Given the description of an element on the screen output the (x, y) to click on. 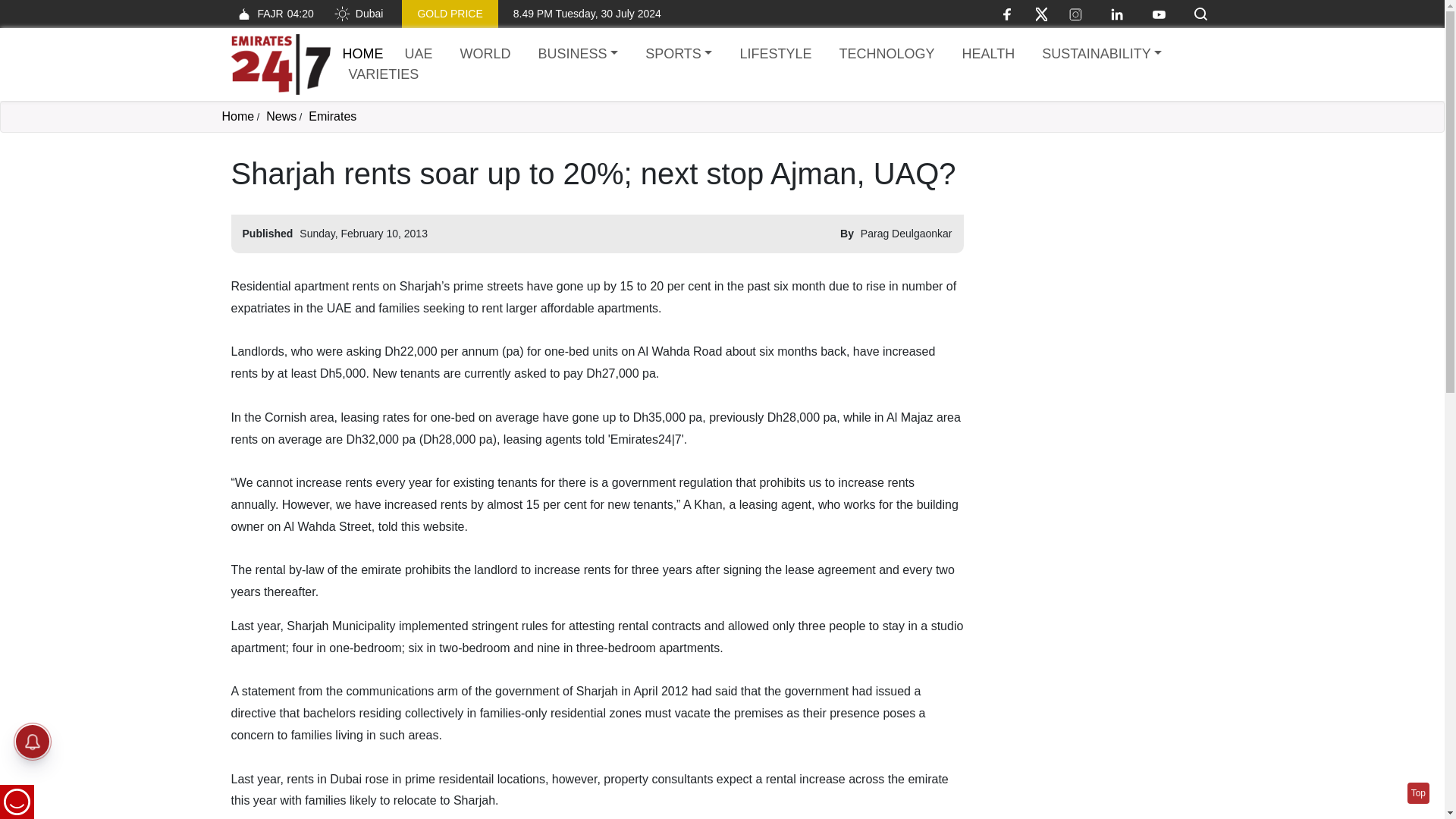
HEALTH (987, 54)
HOME (363, 53)
Emirates (332, 115)
Go to top (1418, 792)
Home (280, 64)
BUSINESS (578, 54)
SPORTS (271, 13)
3rd party ad content (678, 54)
TECHNOLOGY (1097, 249)
UAE (886, 54)
Home (418, 54)
Home (237, 115)
GOLD PRICE (363, 53)
VARIETIES (449, 13)
